Given the description of an element on the screen output the (x, y) to click on. 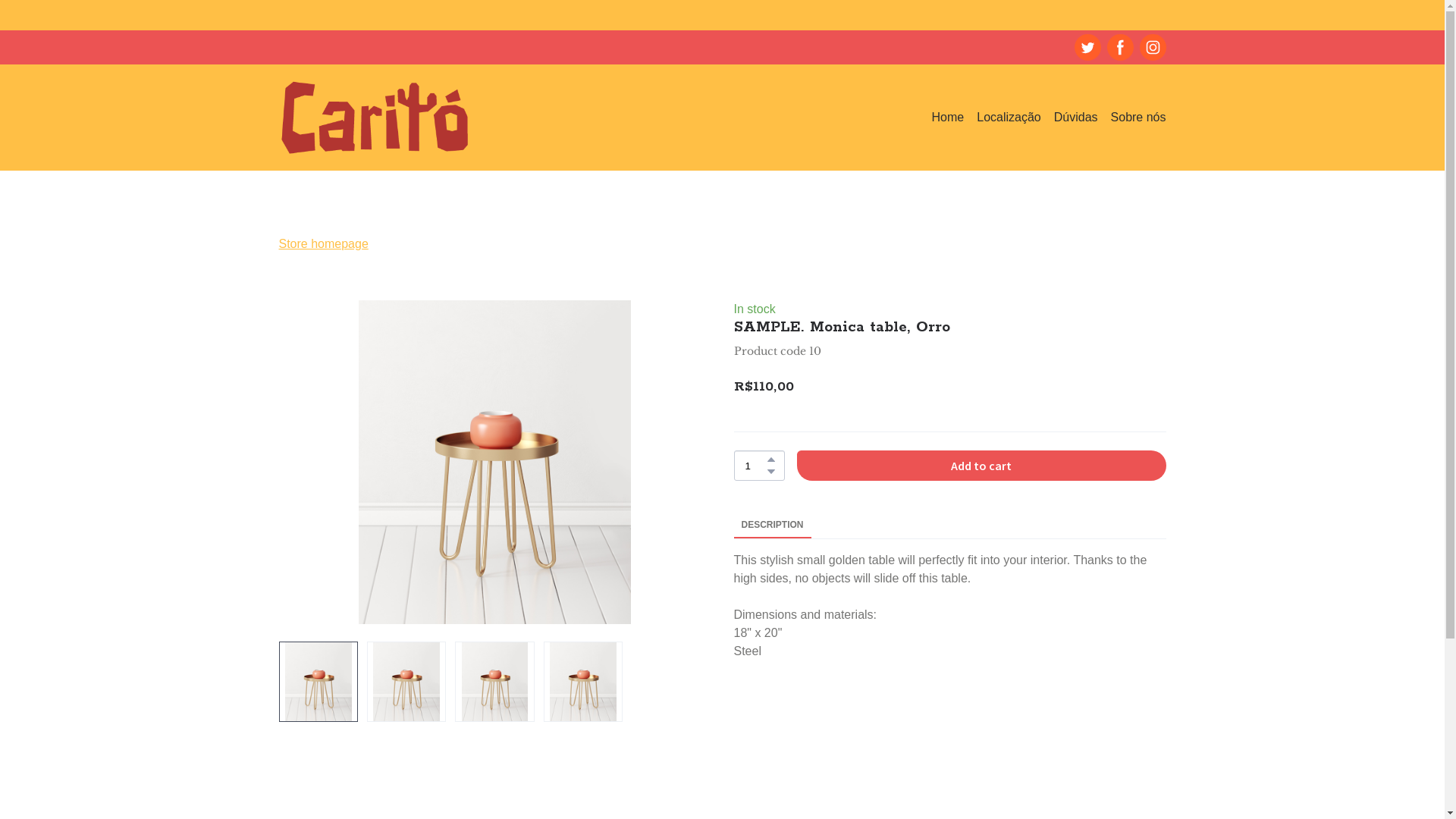
Store homepage Element type: text (323, 244)
Home Element type: text (947, 117)
Add to cart Element type: text (981, 465)
